Given the description of an element on the screen output the (x, y) to click on. 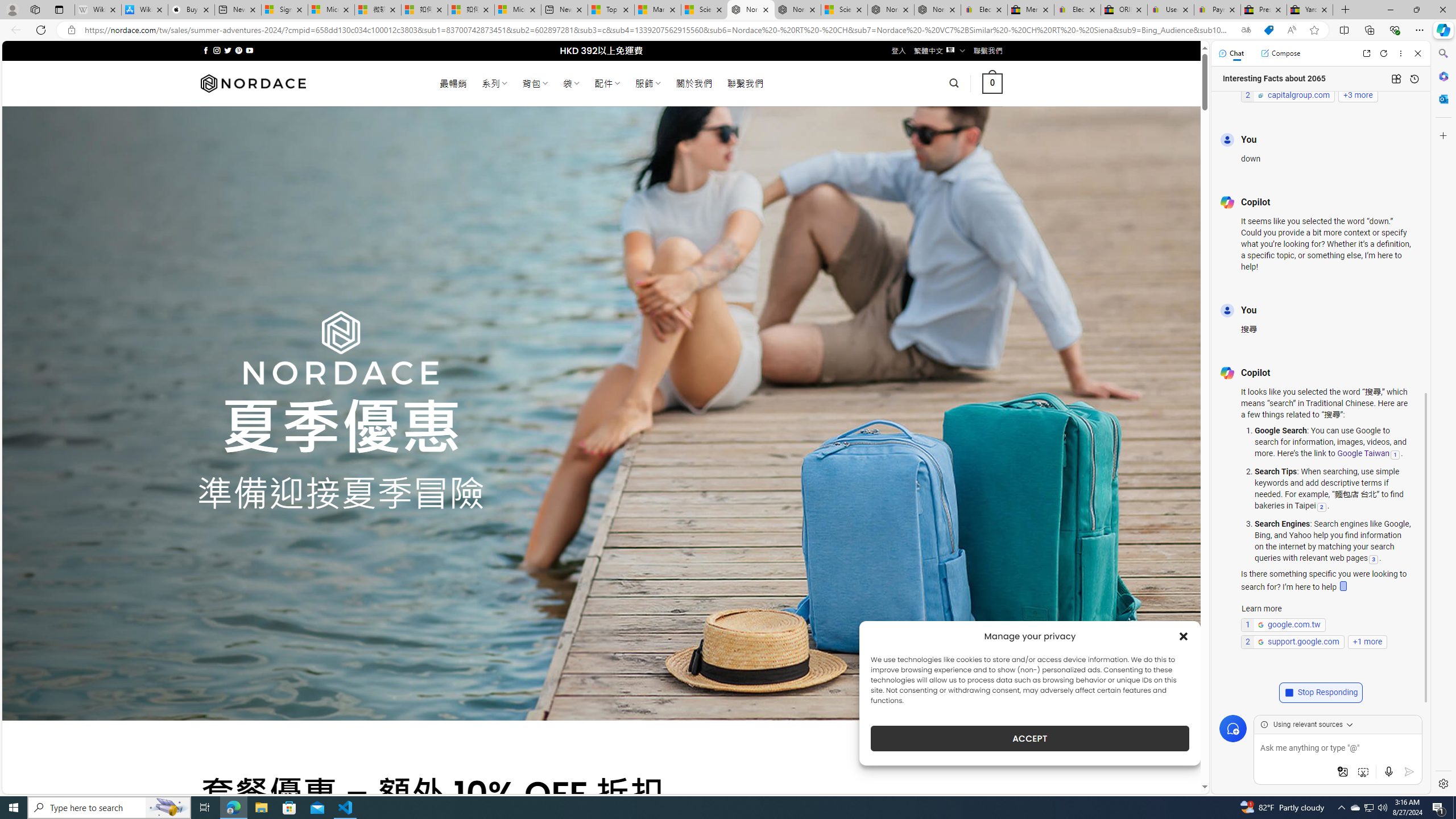
Nordace (252, 83)
Microsoft Services Agreement (330, 9)
Show translate options (1245, 29)
Buy iPad - Apple (191, 9)
